Given the description of an element on the screen output the (x, y) to click on. 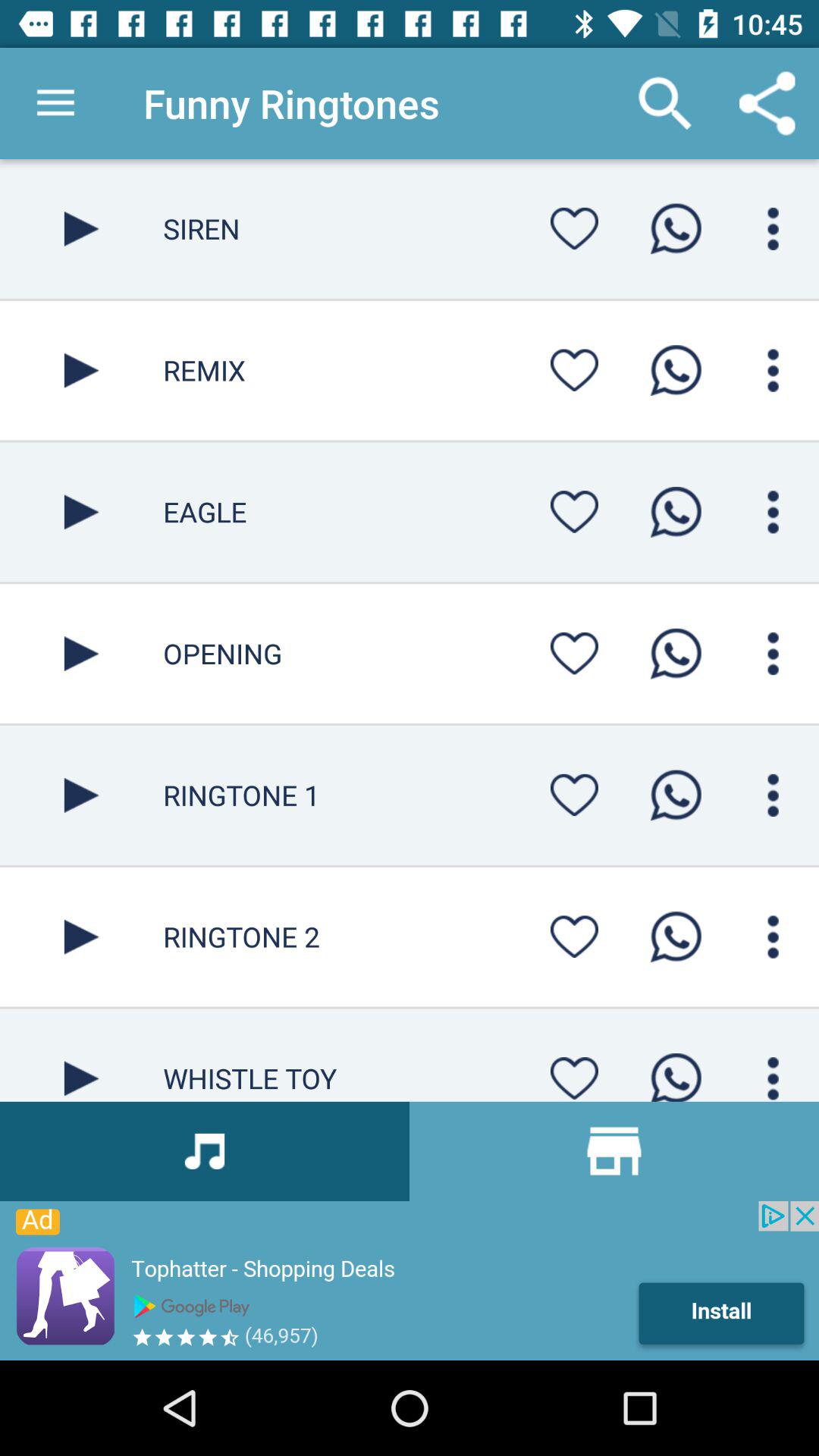
call selected contact (675, 228)
